Given the description of an element on the screen output the (x, y) to click on. 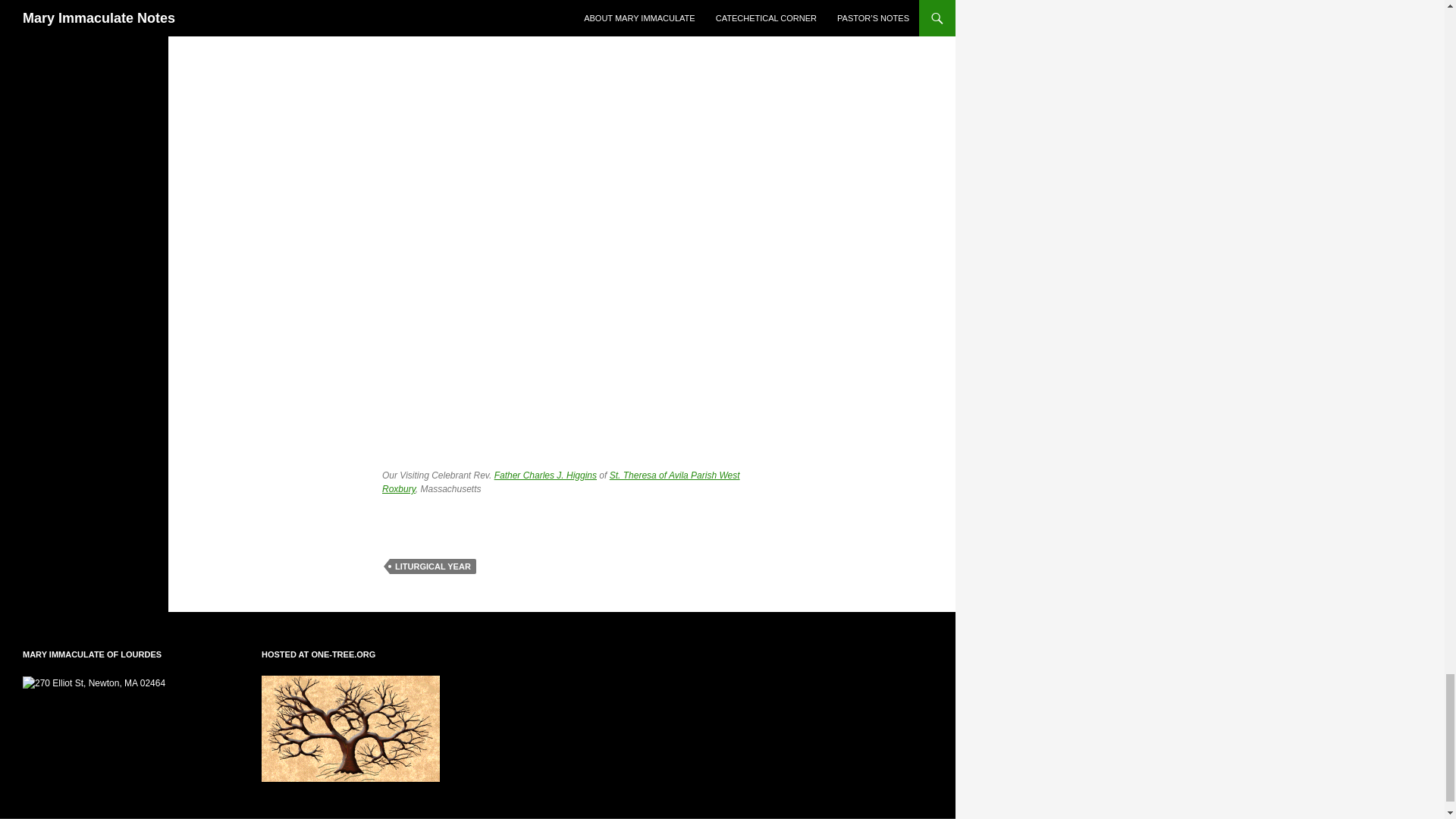
270 Elliot St, Newton, MA 02464 (94, 683)
St. Theresa of Avila Parish West Roxbury (560, 482)
LITURGICAL YEAR (433, 566)
There is one tree (350, 728)
Father Charles J. Higgins (545, 475)
